Given the description of an element on the screen output the (x, y) to click on. 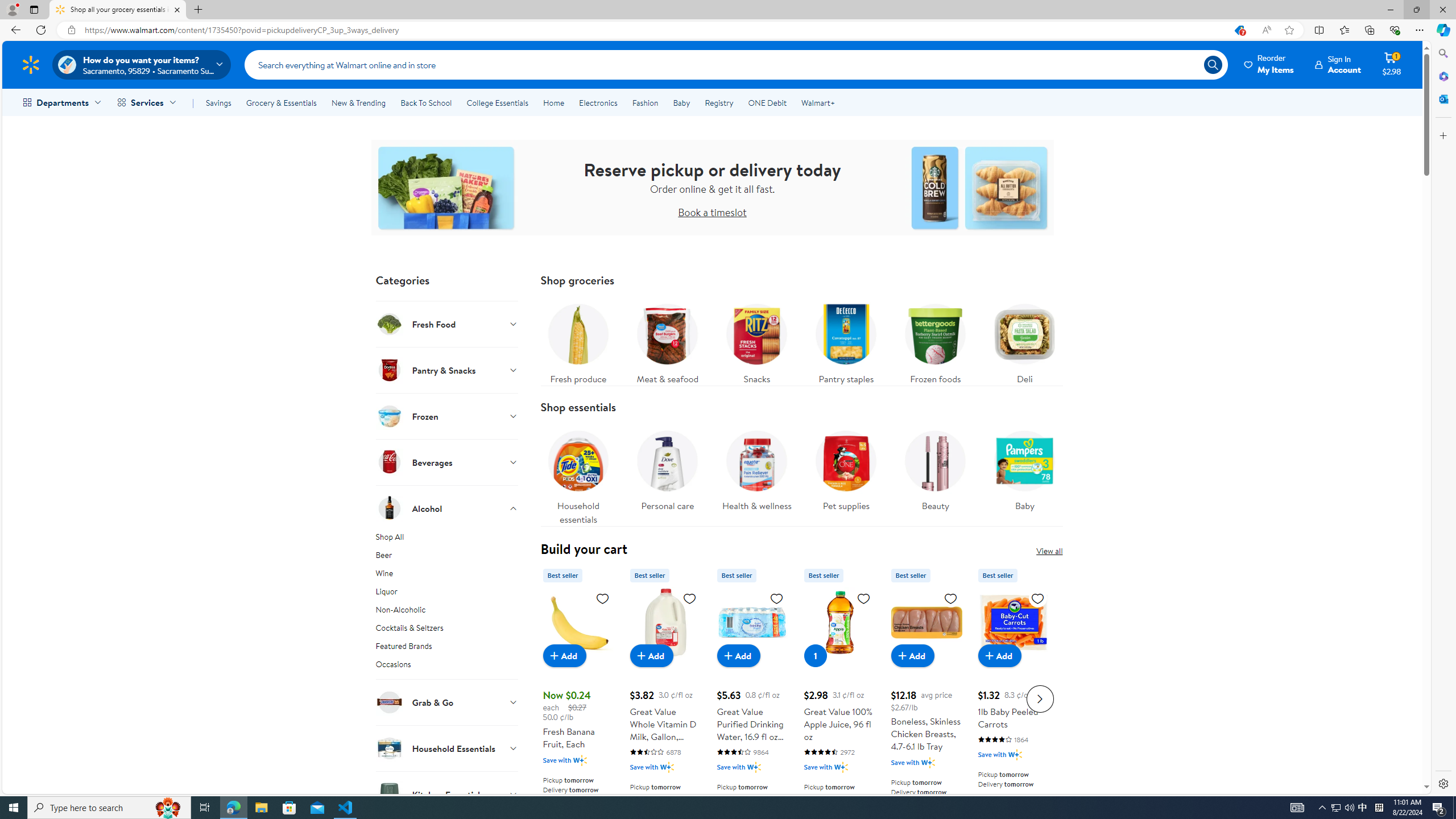
Back To School (425, 102)
Electronics (598, 102)
Cocktails & Seltzers (446, 630)
Registry (718, 102)
